Given the description of an element on the screen output the (x, y) to click on. 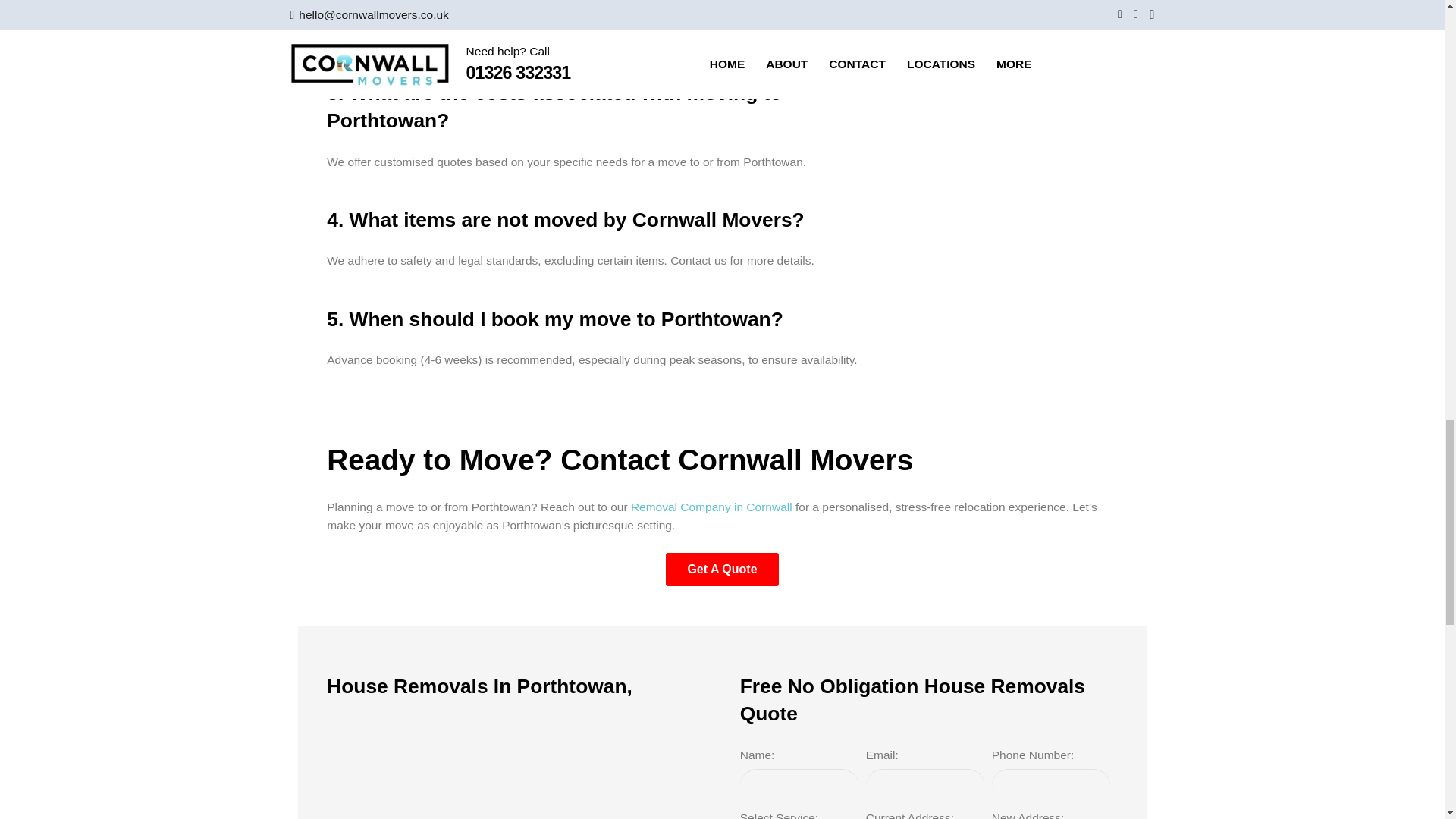
Get A Quote (721, 569)
Removal Company in Cornwall (711, 506)
